Given the description of an element on the screen output the (x, y) to click on. 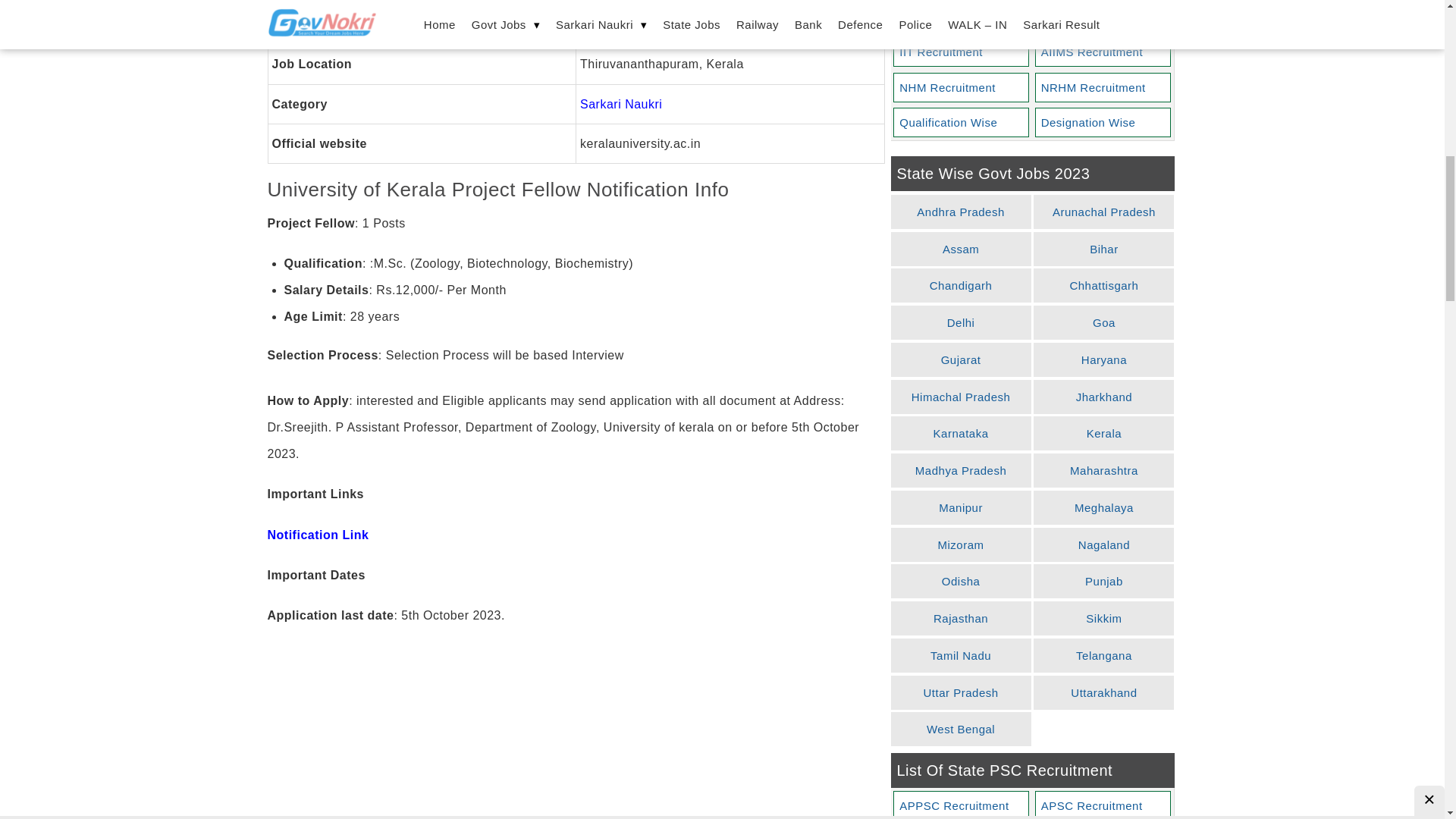
Notification Link (317, 534)
Sarkari Naukri (620, 103)
